Given the description of an element on the screen output the (x, y) to click on. 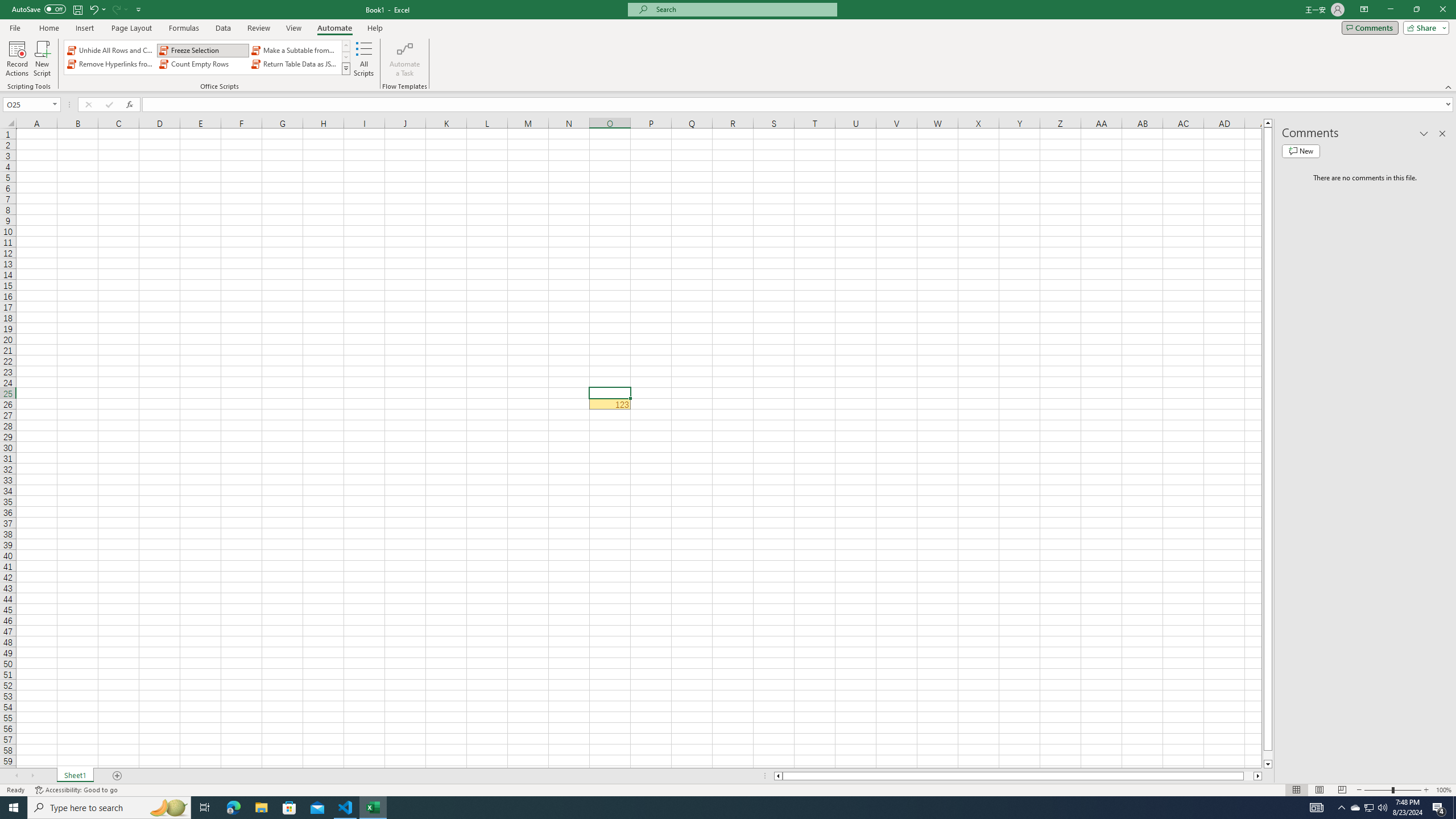
More Options (125, 9)
Home (48, 28)
Collapse the Ribbon (1448, 86)
Insert (83, 28)
Page right (1248, 775)
Zoom (1392, 790)
Minimize (1390, 9)
Column left (778, 775)
Restore Down (1416, 9)
Class: NetUIScrollBar (1018, 775)
Review (258, 28)
Row up (346, 45)
Undo (92, 9)
New Script (41, 58)
Name Box (27, 104)
